Given the description of an element on the screen output the (x, y) to click on. 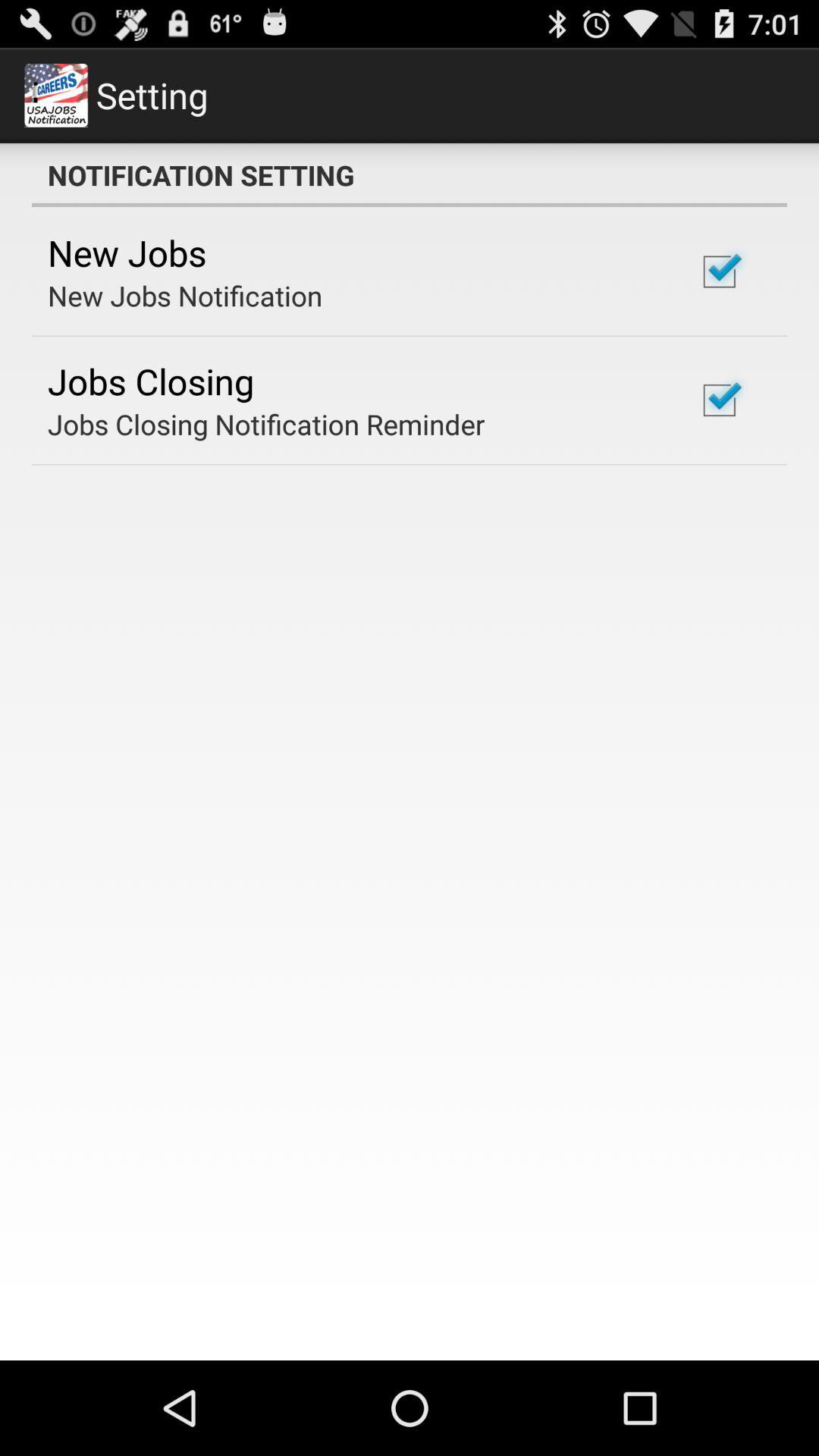
open the notification setting (409, 175)
